Given the description of an element on the screen output the (x, y) to click on. 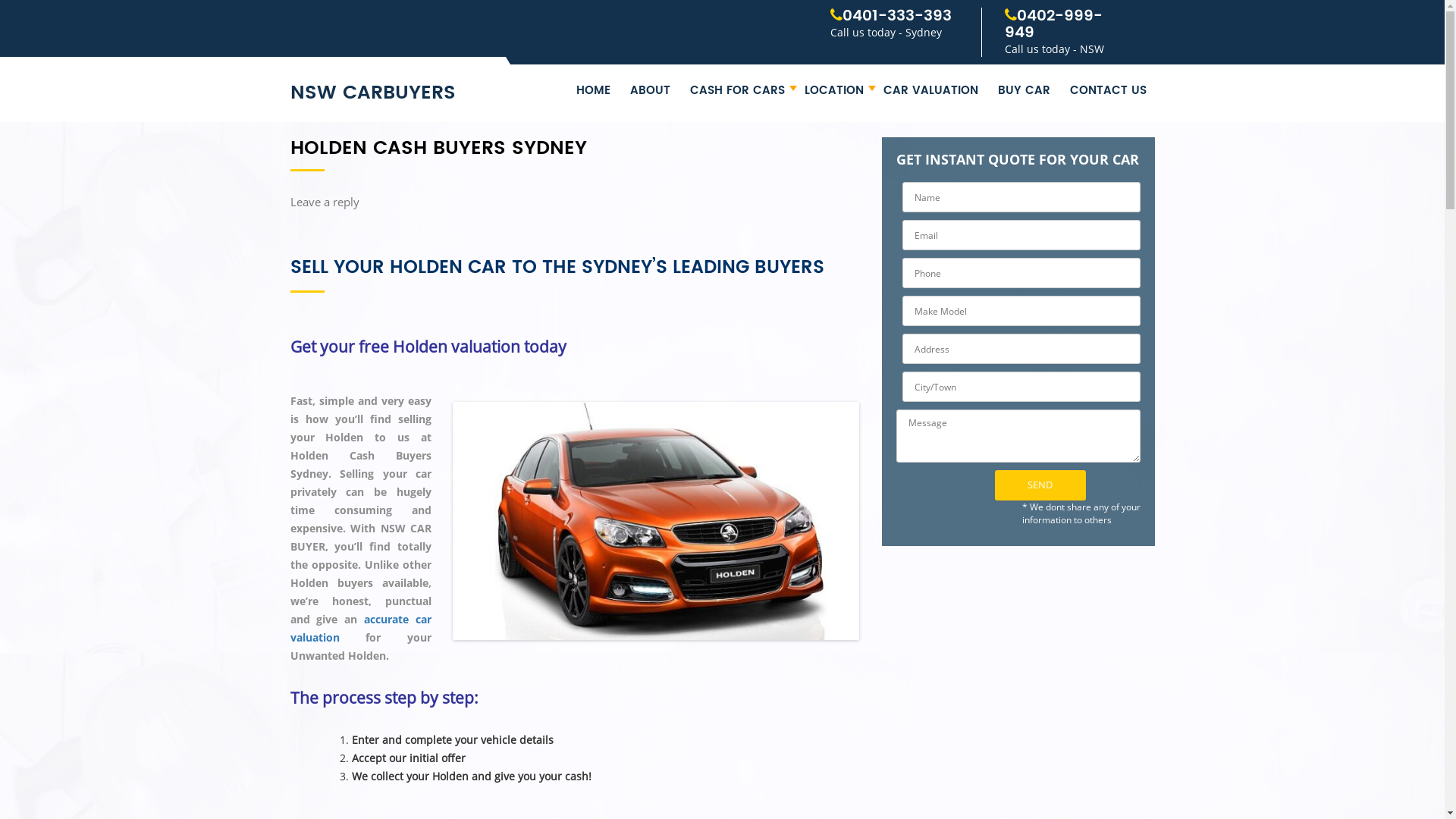
BUY CAR Element type: text (1022, 92)
ABOUT Element type: text (649, 92)
CASH FOR CARS Element type: text (736, 92)
0401-333-393 Element type: text (896, 15)
Send Element type: text (1039, 485)
0402-999-949 Element type: text (1053, 24)
CONTACT US Element type: text (1107, 92)
Leave a reply Element type: text (323, 201)
CAR VALUATION Element type: text (930, 92)
LOCATION Element type: text (834, 92)
accurate car valuation Element type: text (360, 627)
HOME Element type: text (592, 92)
